Given the description of an element on the screen output the (x, y) to click on. 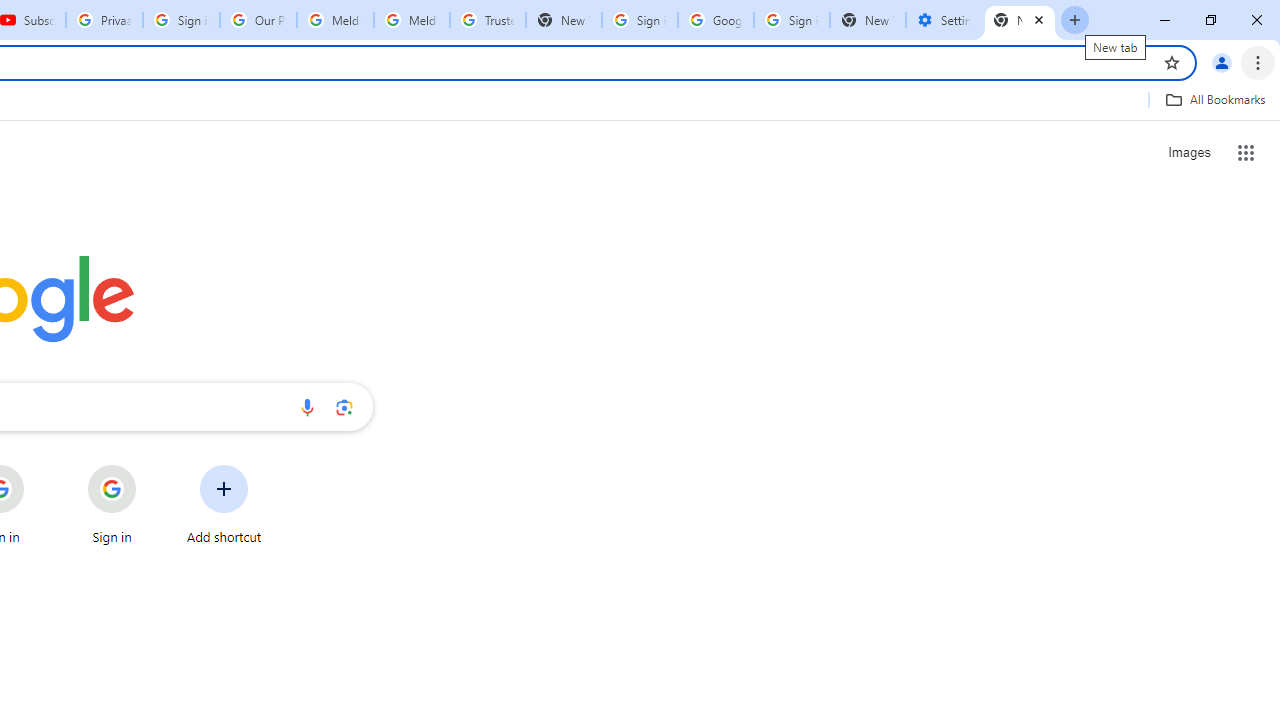
Trusted Information and Content - Google Safety Center (488, 20)
New Tab (1019, 20)
Settings - Addresses and more (943, 20)
Sign in - Google Accounts (181, 20)
More actions for Sign in shortcut (152, 466)
Sign in - Google Accounts (791, 20)
